Given the description of an element on the screen output the (x, y) to click on. 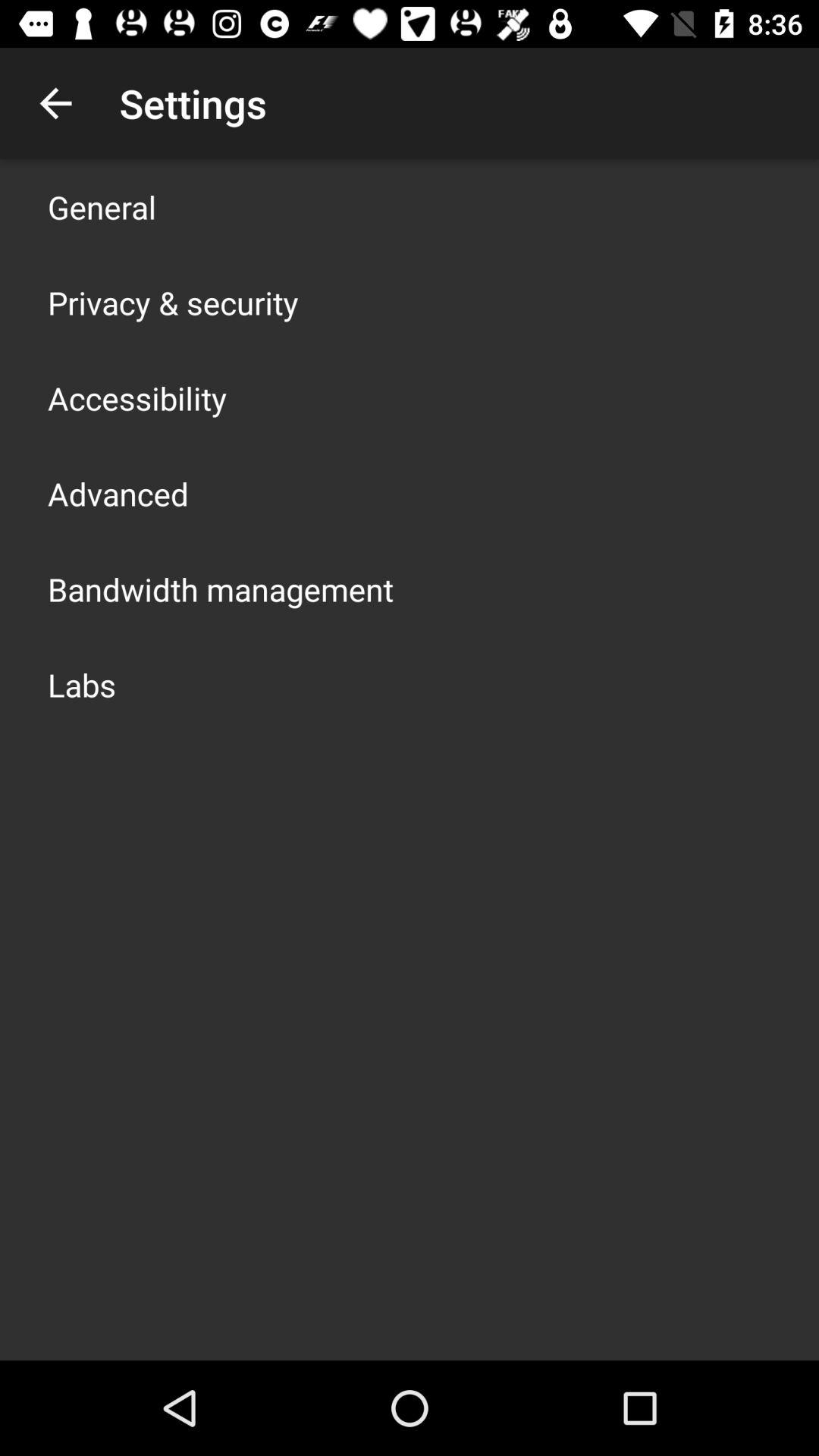
turn on general item (101, 206)
